Given the description of an element on the screen output the (x, y) to click on. 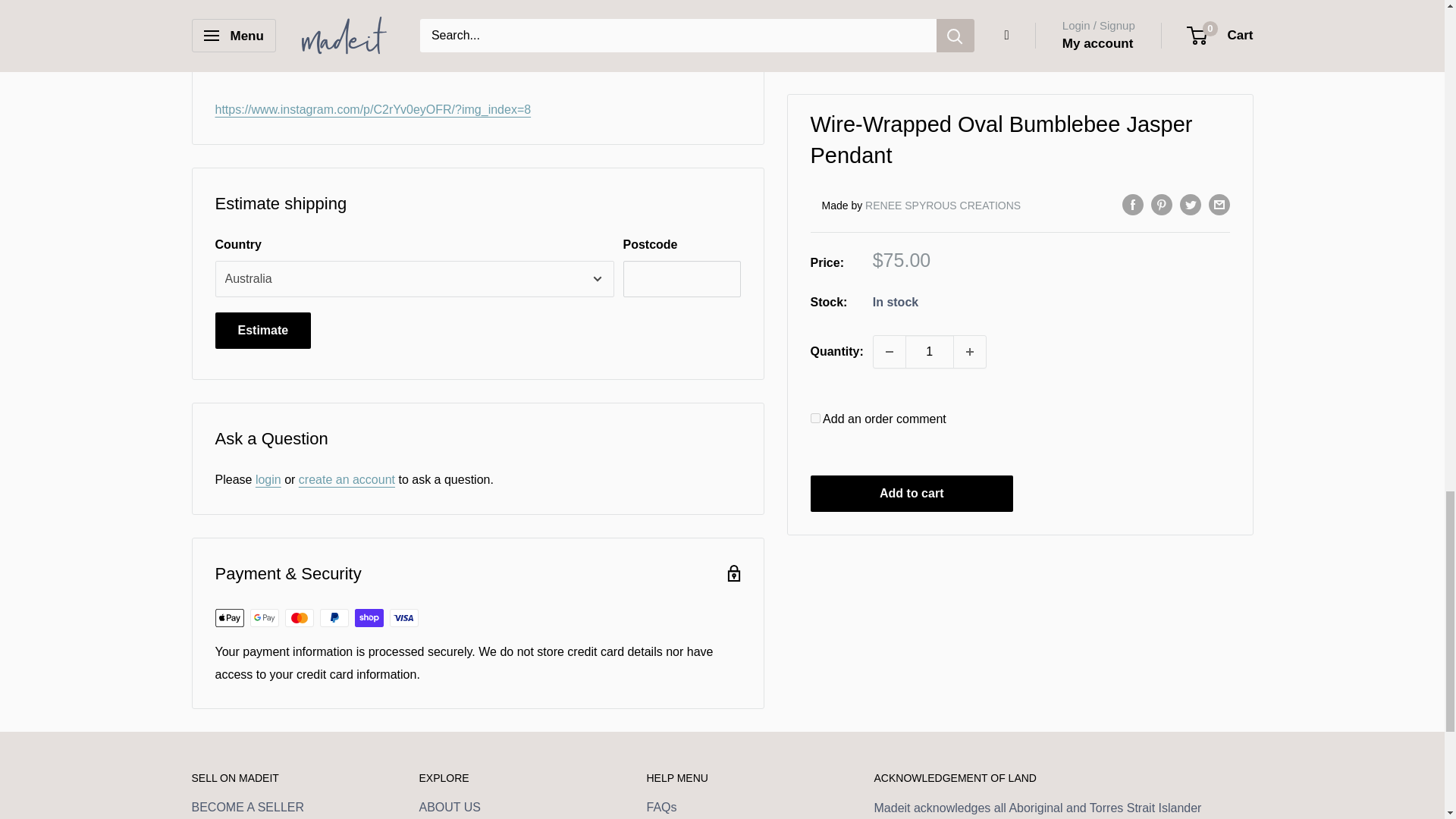
Wire-Wrapped Oval Bumblebee Jasper Pendant Video (373, 120)
